Given the description of an element on the screen output the (x, y) to click on. 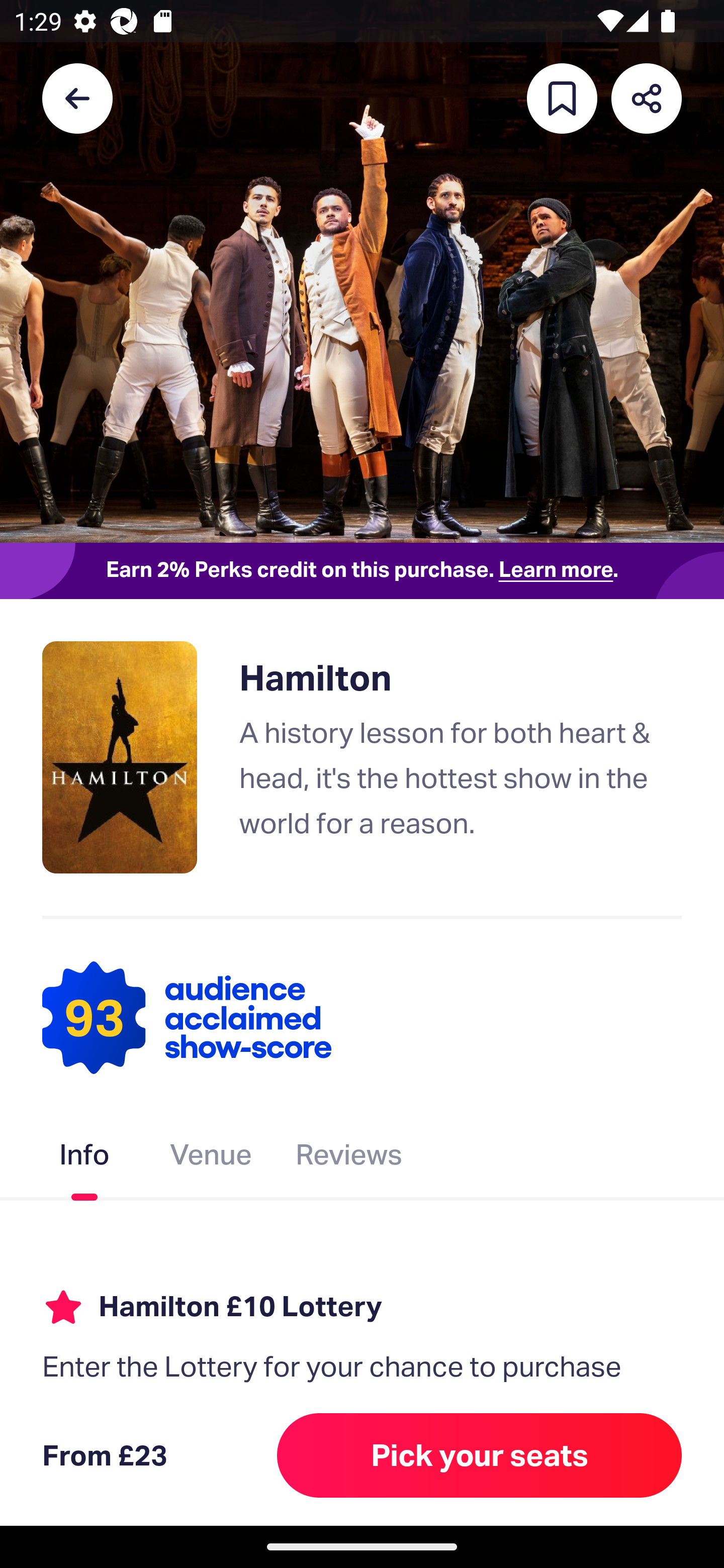
Earn 2% Perks credit on this purchase. Learn more. (362, 570)
Venue (210, 1158)
Reviews (348, 1158)
Pick your seats (479, 1454)
